Given the description of an element on the screen output the (x, y) to click on. 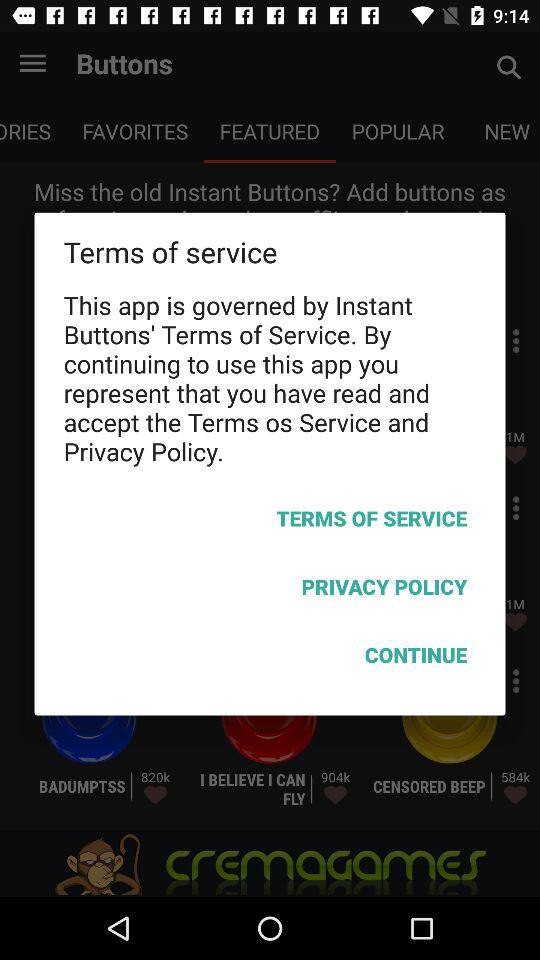
flip until the privacy policy (269, 590)
